Given the description of an element on the screen output the (x, y) to click on. 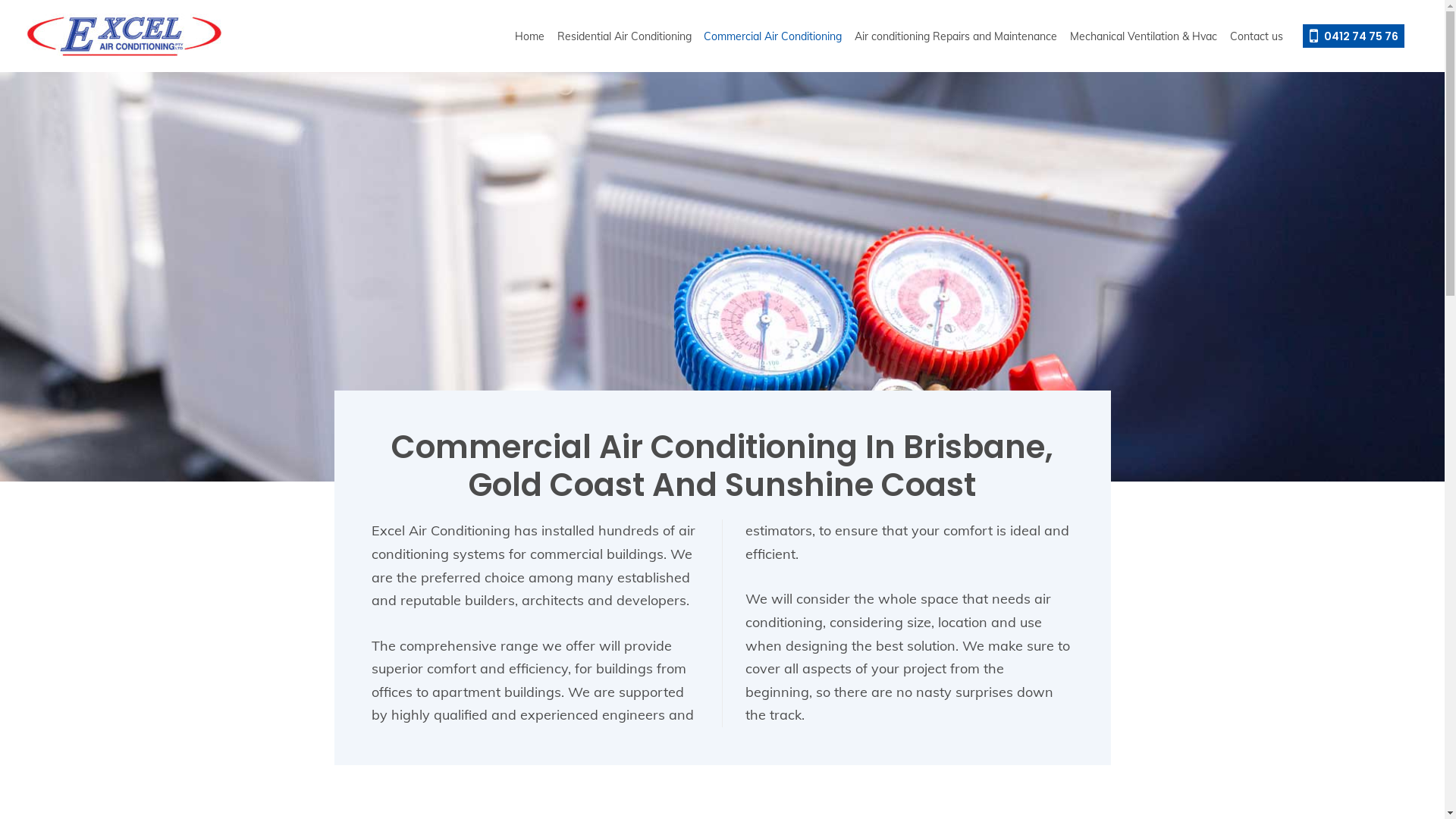
Home Element type: text (529, 35)
Air conditioning Repairs and Maintenance Element type: text (955, 35)
Residential Air Conditioning Element type: text (623, 35)
0412 74 75 76 Element type: text (1353, 35)
Mechanical Ventilation & Hvac Element type: text (1143, 35)
Commercial Air Conditioning Element type: text (772, 35)
Contact us Element type: text (1256, 35)
